Given the description of an element on the screen output the (x, y) to click on. 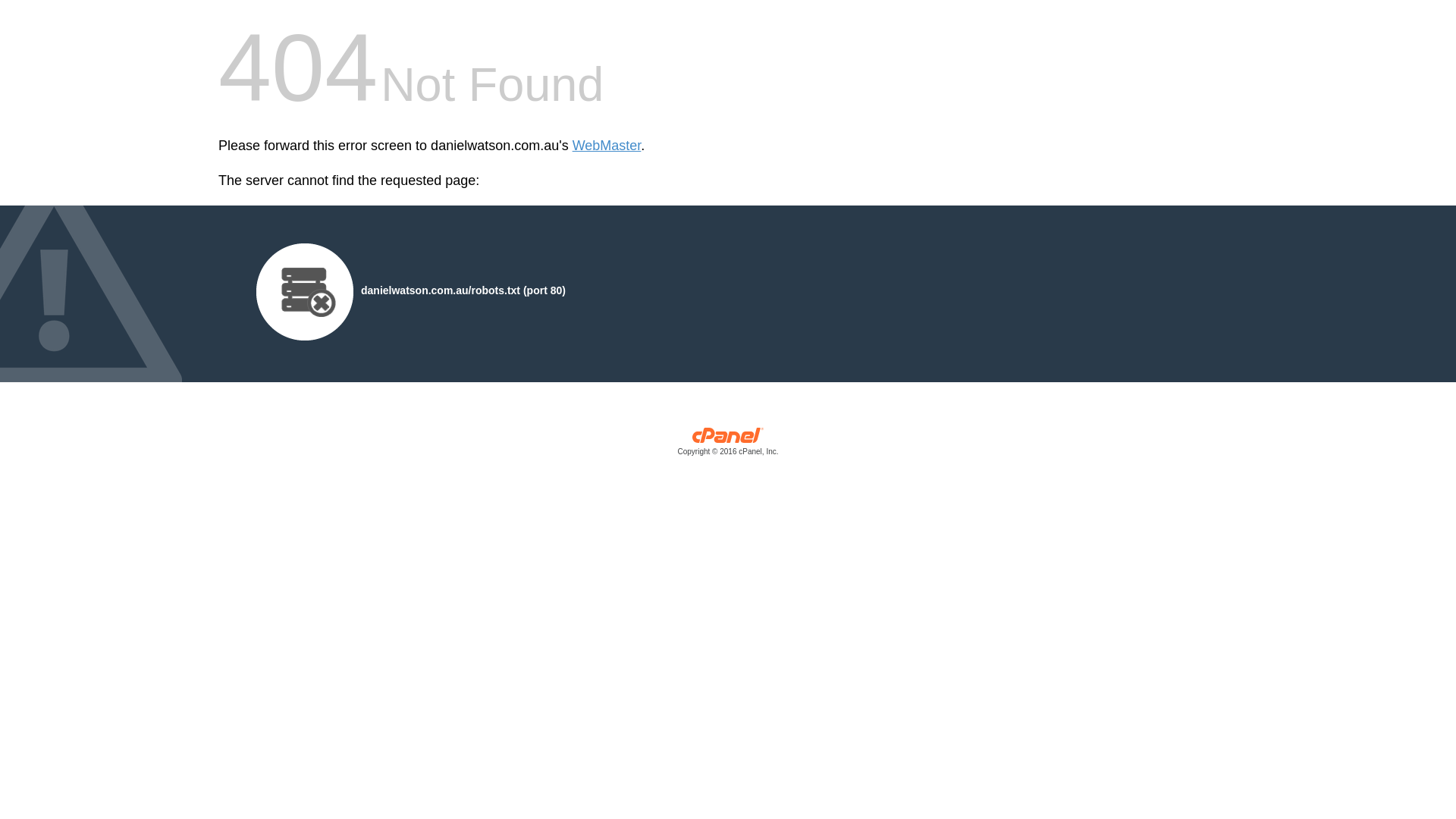
WebMaster Element type: text (606, 145)
